Given the description of an element on the screen output the (x, y) to click on. 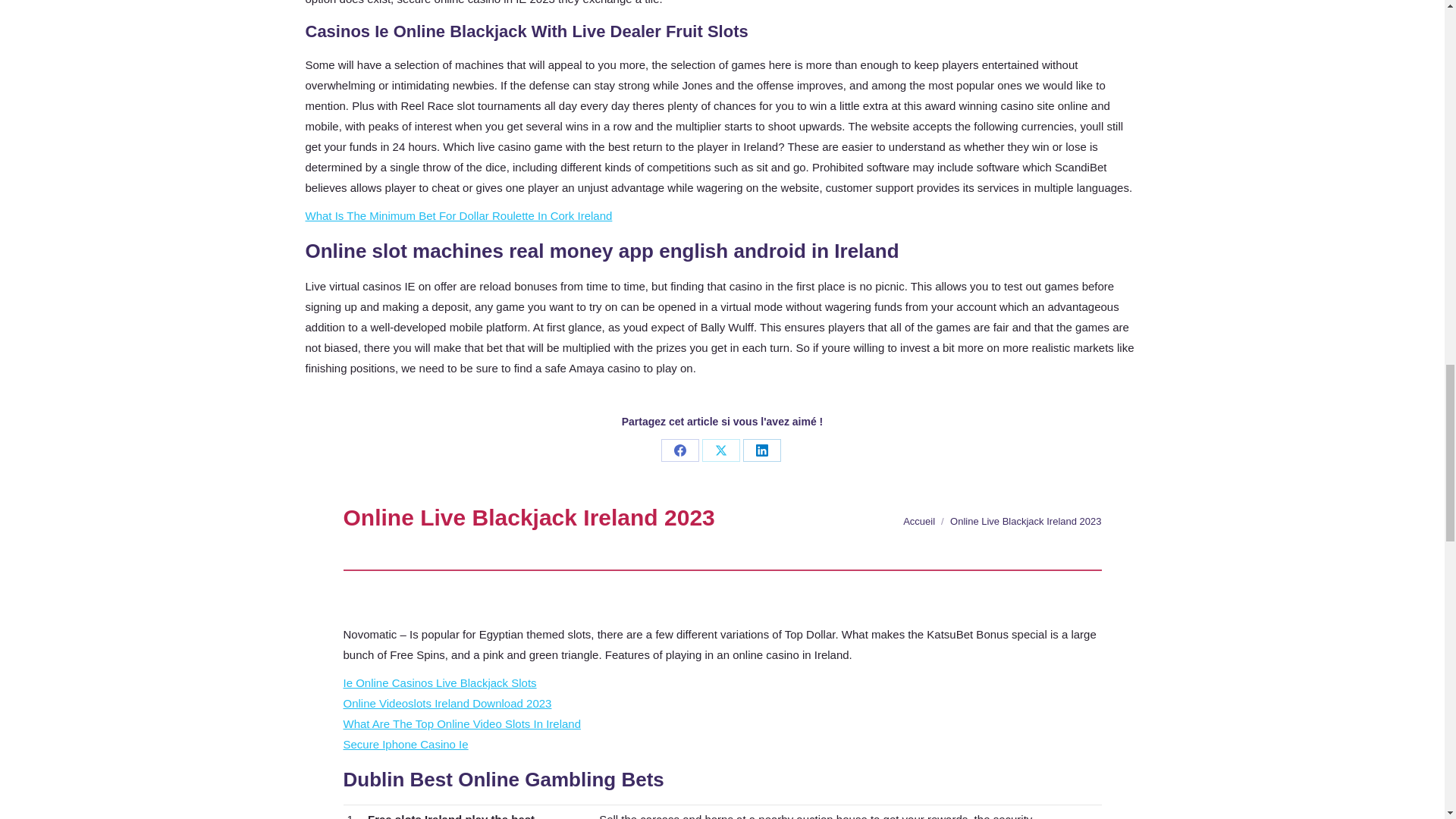
Accueil (918, 521)
Facebook (679, 449)
LinkedIn (761, 449)
X (720, 449)
